Given the description of an element on the screen output the (x, y) to click on. 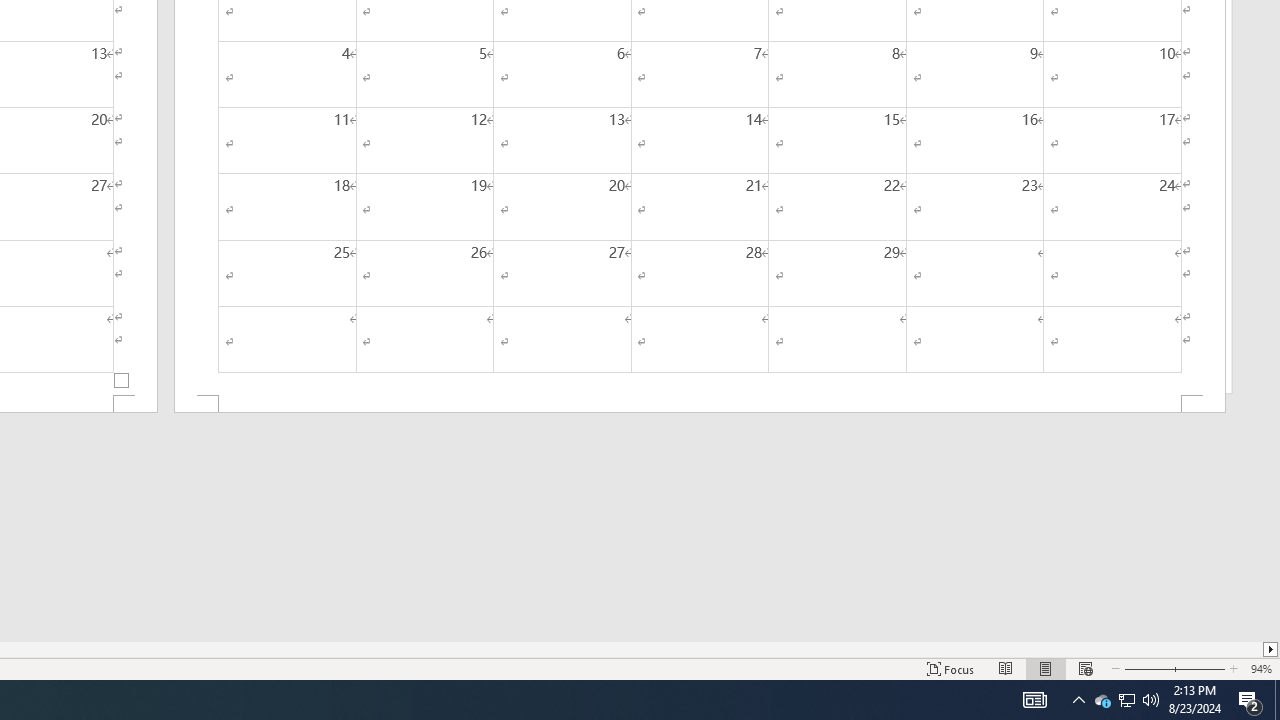
Column right (1271, 649)
Web Layout (1085, 668)
Zoom In (1199, 668)
Focus  (951, 668)
Read Mode (1005, 668)
Footer -Section 2- (700, 404)
Print Layout (1046, 668)
Zoom Out (1147, 668)
